Given the description of an element on the screen output the (x, y) to click on. 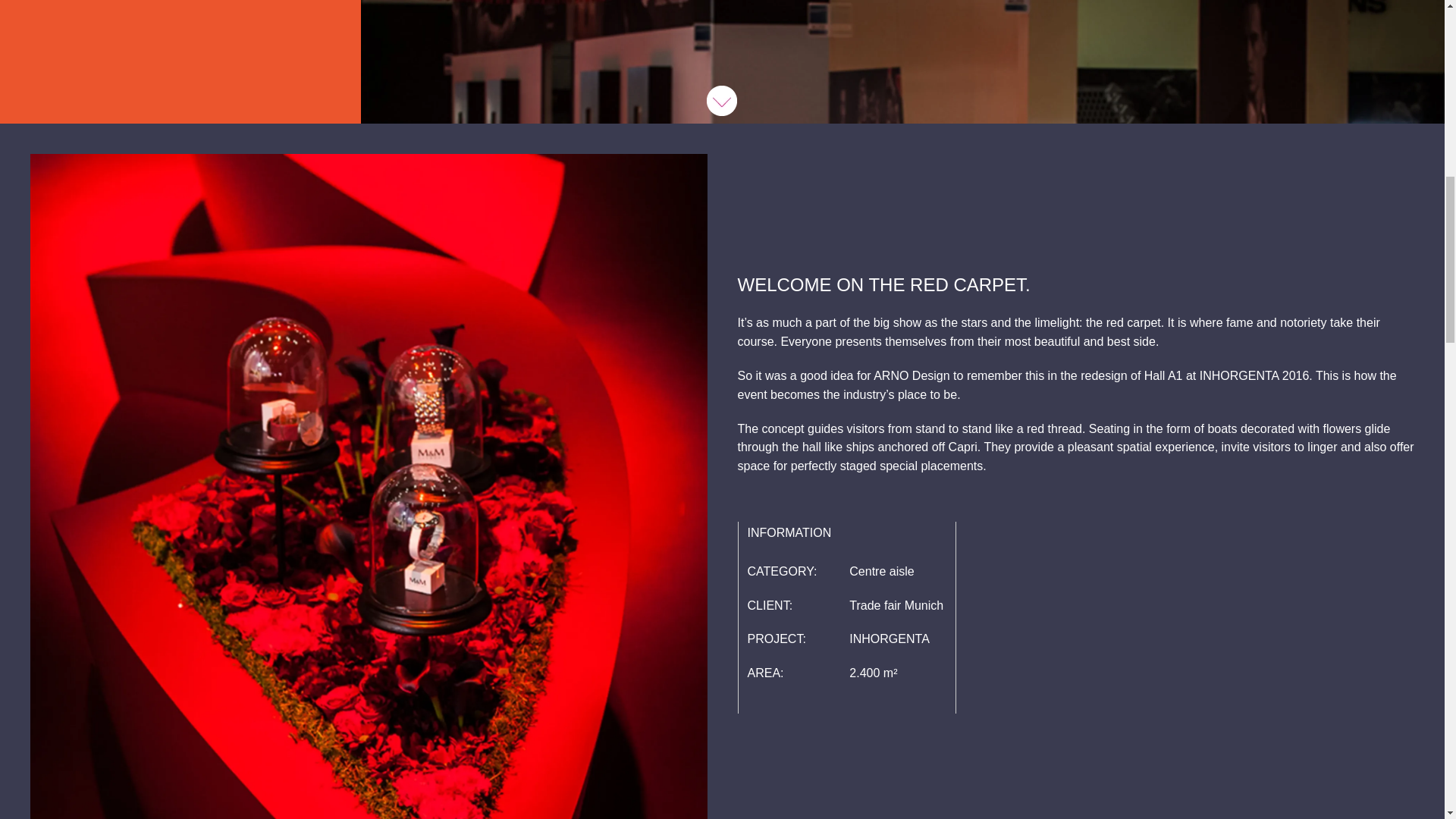
scroll down (721, 100)
